Given the description of an element on the screen output the (x, y) to click on. 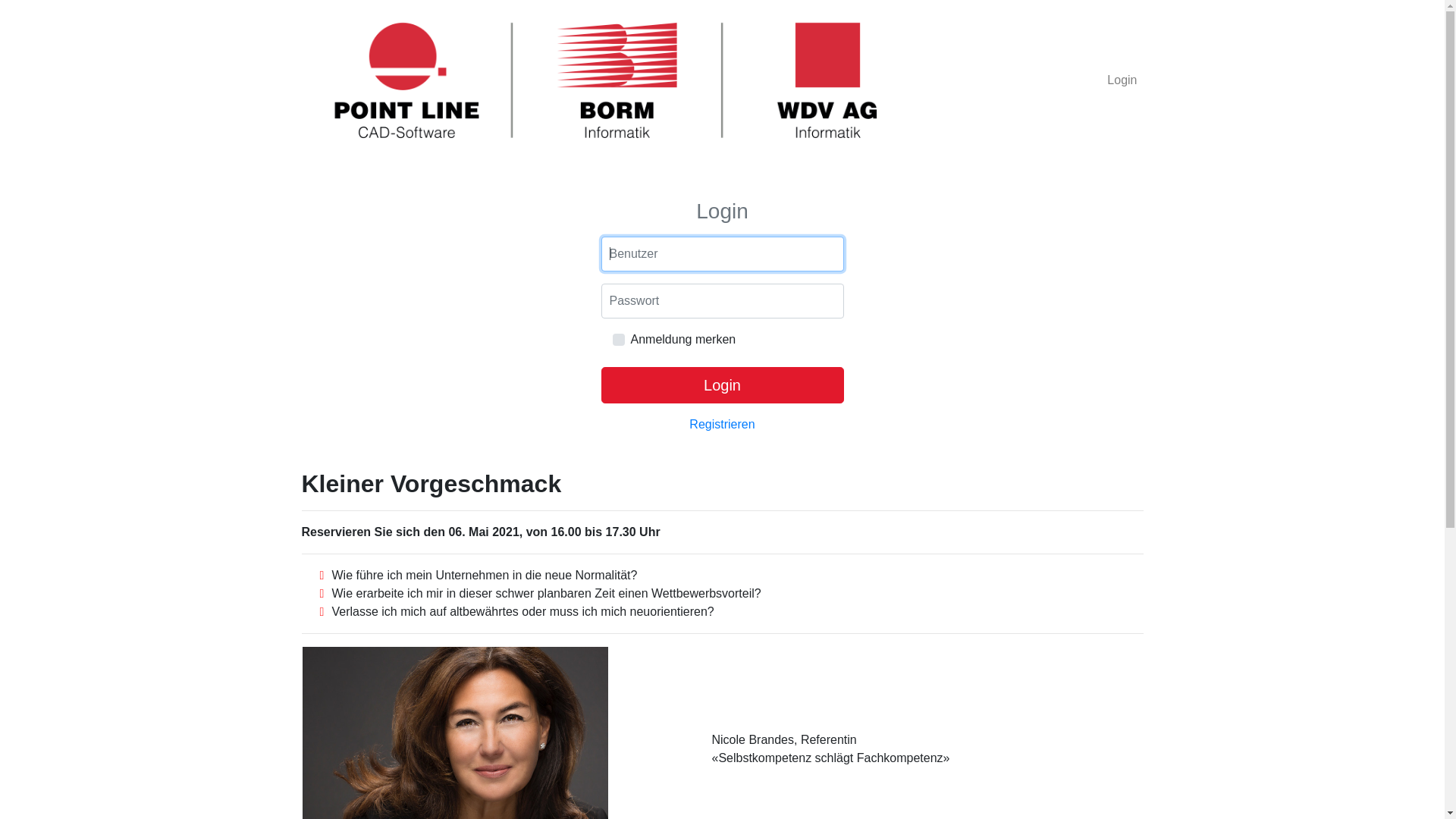
Registrieren Element type: text (721, 423)
Login Element type: text (1121, 80)
Login Element type: text (721, 385)
